Given the description of an element on the screen output the (x, y) to click on. 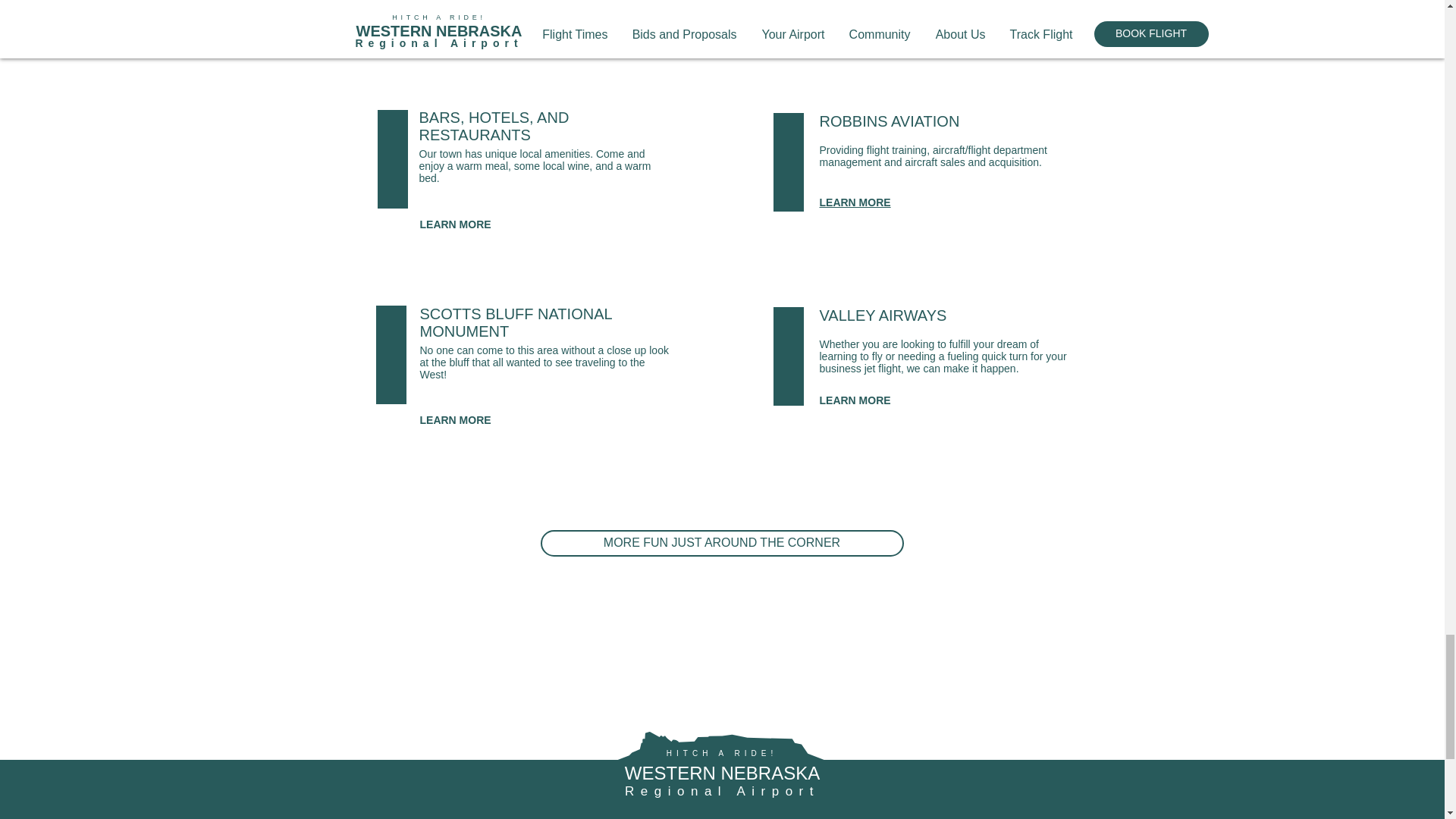
HITCH A RIDE! (721, 753)
LEARN MORE (853, 202)
LEARN MORE (853, 399)
LEARN MORE (454, 10)
WESTERN NEBRASKA (721, 772)
LEARN MORE (456, 224)
LEARN MORE (456, 419)
MORE FUN JUST AROUND THE CORNER (721, 542)
LEARN MORE (853, 14)
